Given the description of an element on the screen output the (x, y) to click on. 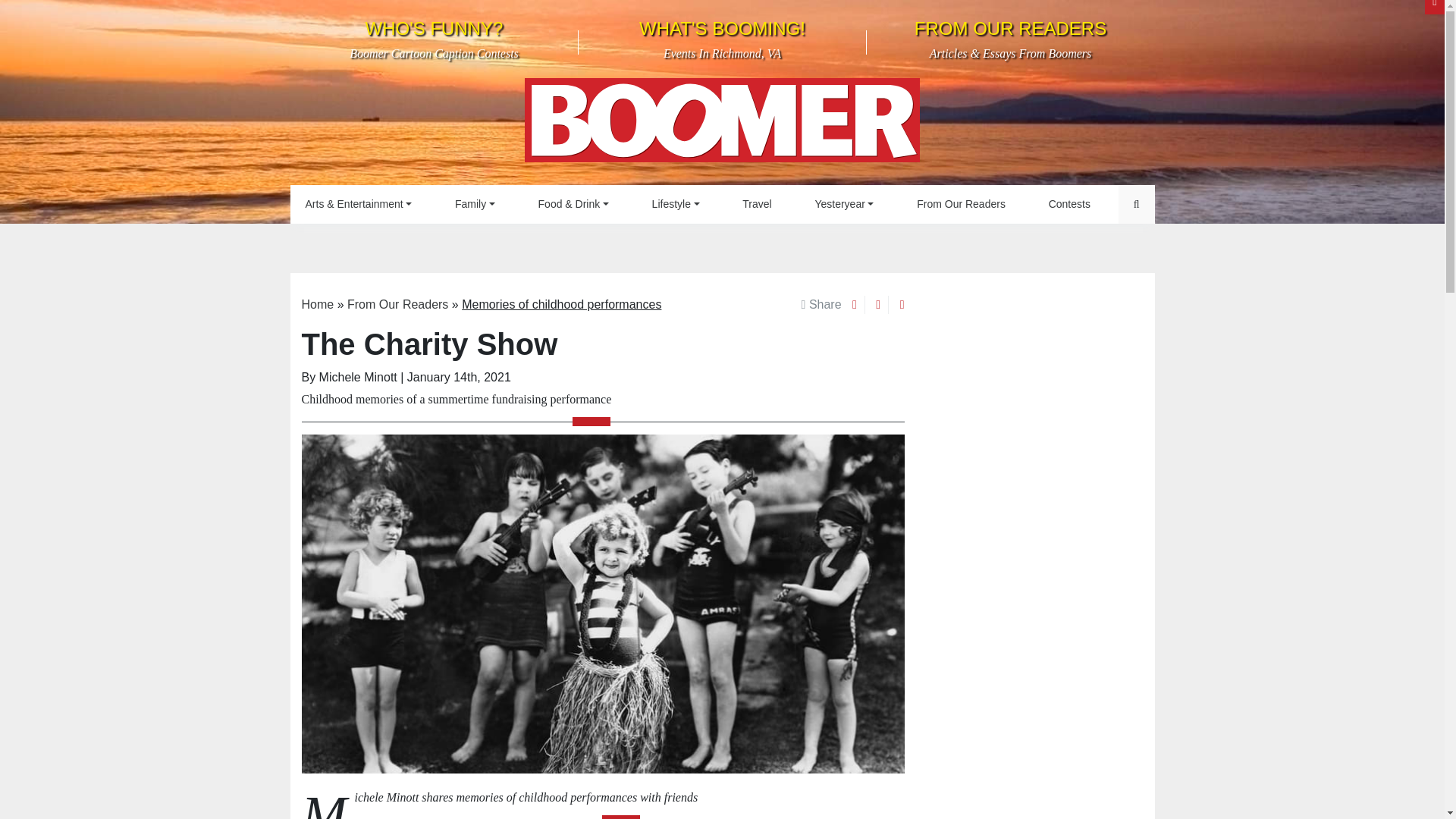
Lifestyle (675, 204)
Family (475, 204)
Family (475, 204)
From Our Readers (722, 39)
Contests (960, 204)
Yesteryear (434, 39)
BOOMER Magazine (1069, 204)
Travel (843, 204)
